Given the description of an element on the screen output the (x, y) to click on. 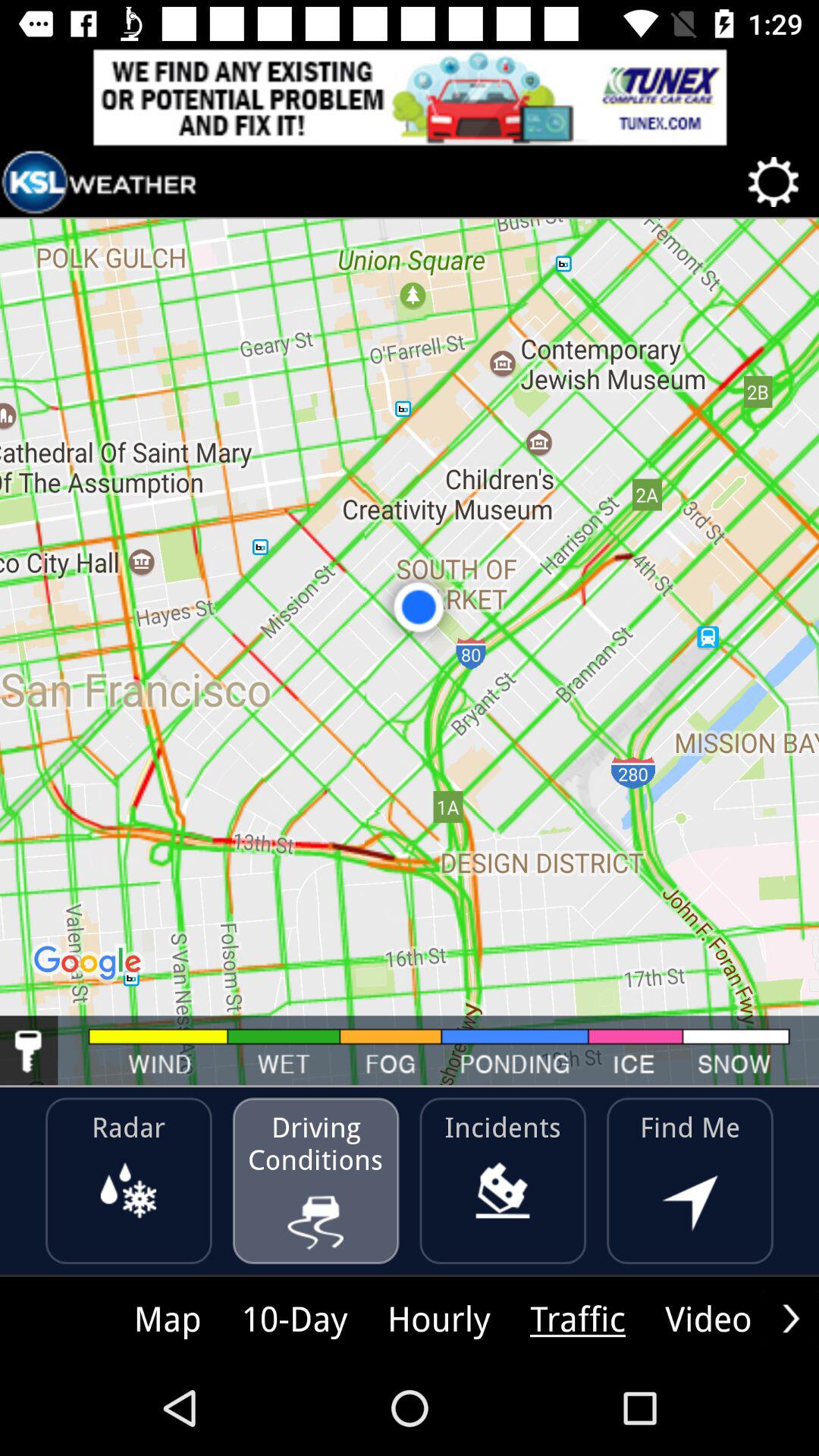
go to next page (791, 1318)
